Given the description of an element on the screen output the (x, y) to click on. 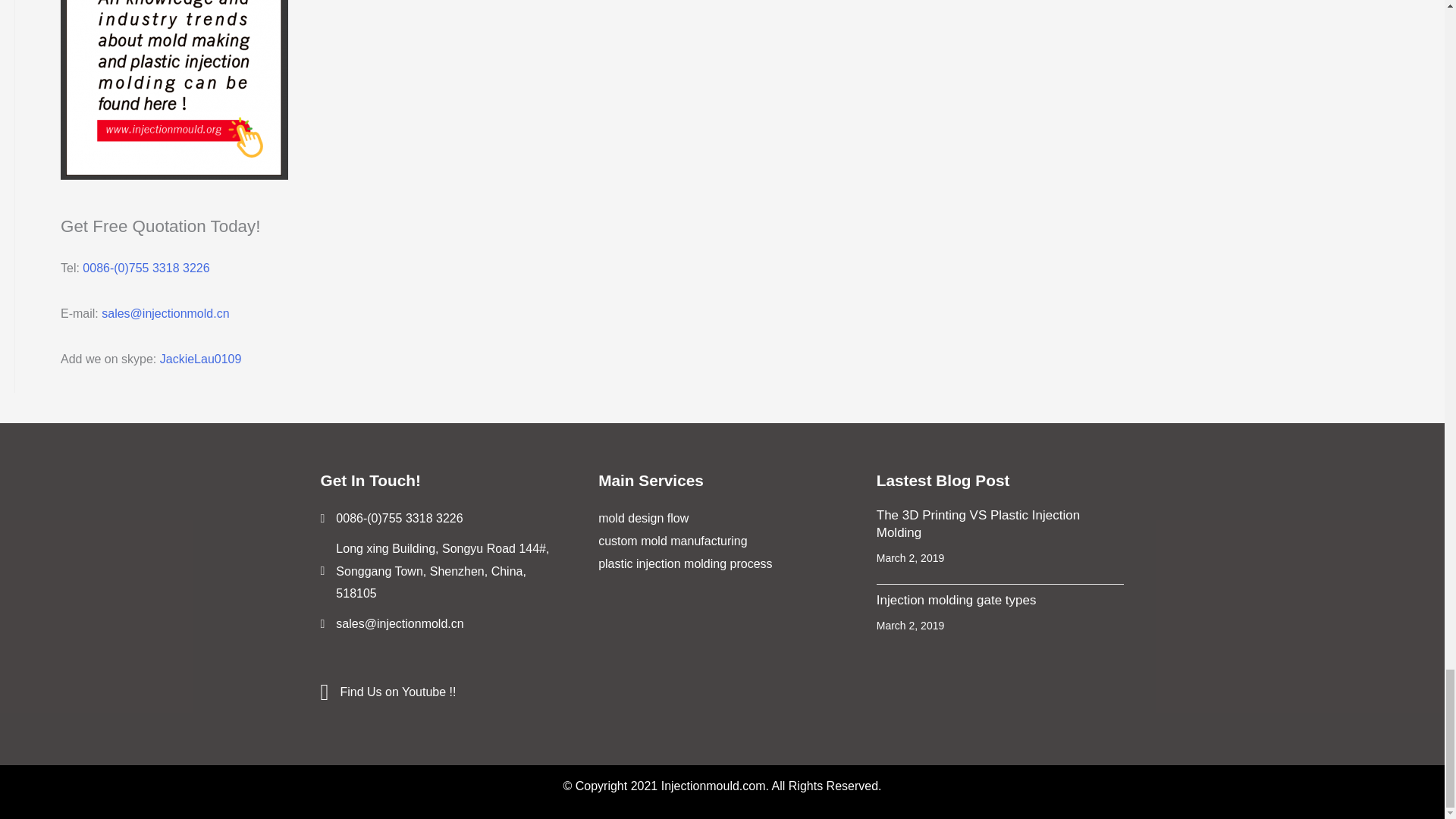
Injection molding gate types (956, 599)
JackieLau0109 (200, 358)
The 3D Printing VS Plastic Injection Molding (978, 522)
